Given the description of an element on the screen output the (x, y) to click on. 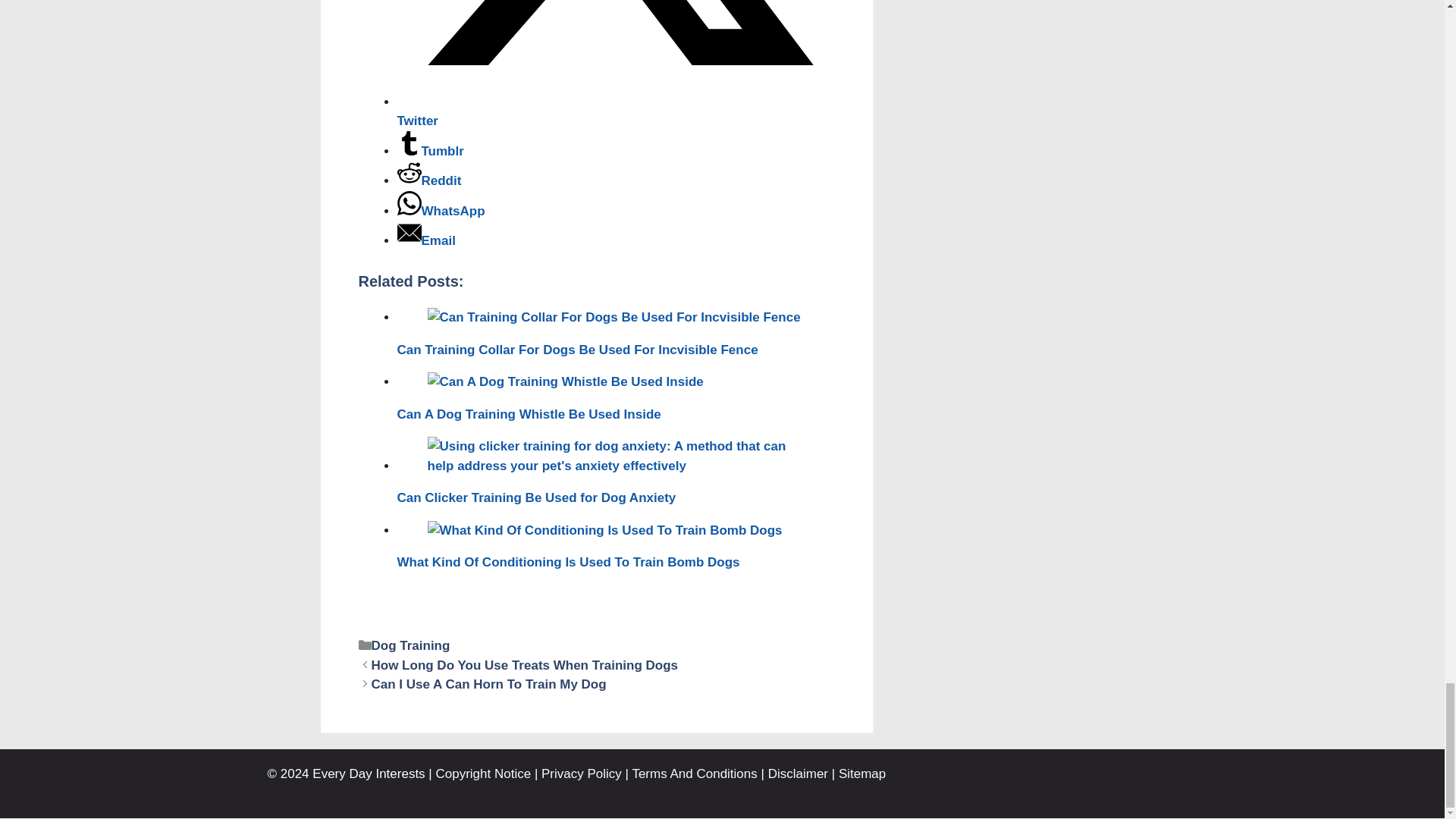
Share on Tumblr (430, 151)
Share on Email (426, 240)
Share on Twitter (615, 111)
Share on Reddit (429, 180)
Share on WhatsApp (440, 210)
